Given the description of an element on the screen output the (x, y) to click on. 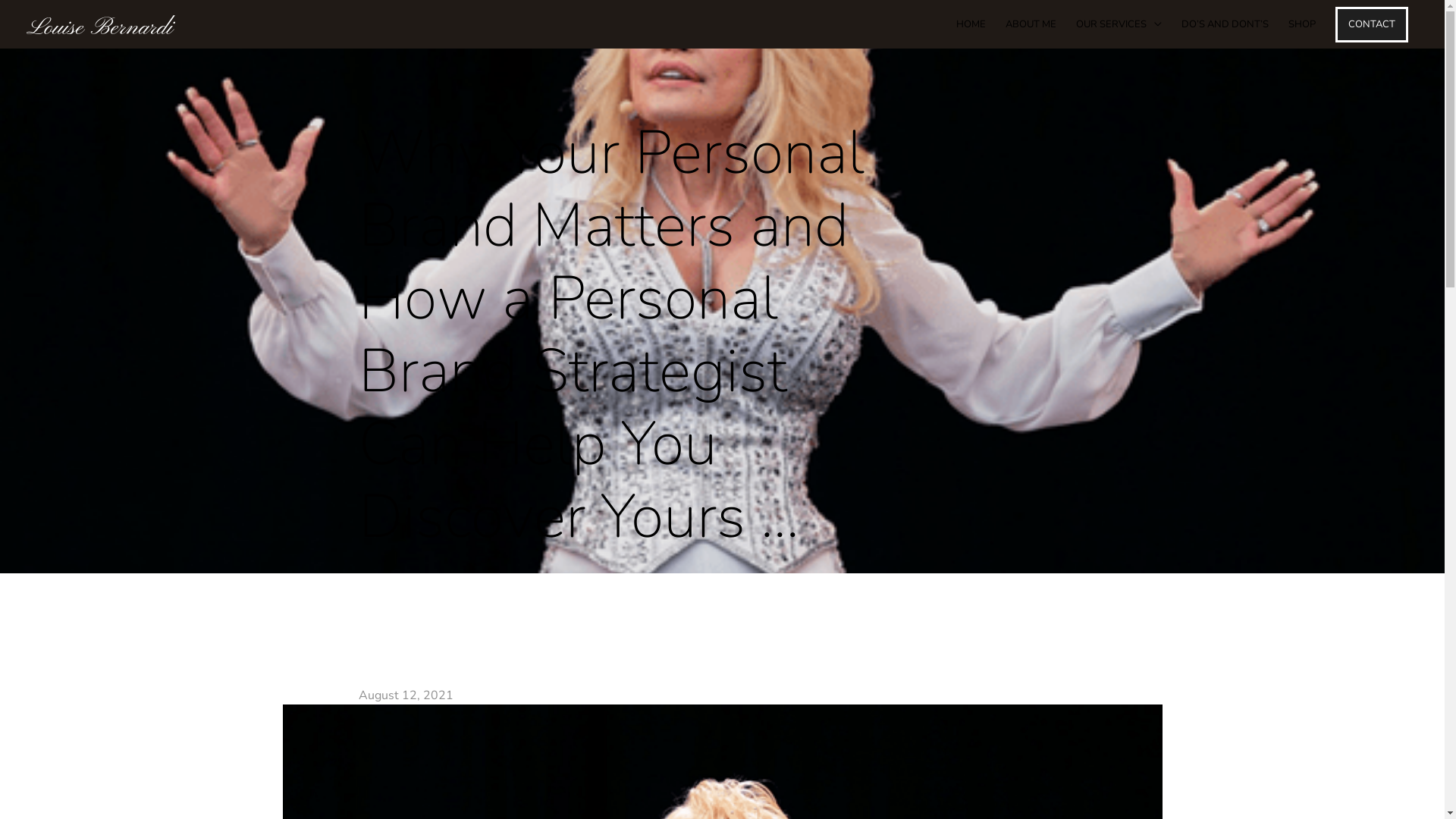
CONTACT Element type: text (1371, 23)
OUR SERVICES Element type: text (1118, 24)
SHOP Element type: text (1301, 24)
HOME Element type: text (970, 24)
ABOUT ME Element type: text (1030, 24)
